Given the description of an element on the screen output the (x, y) to click on. 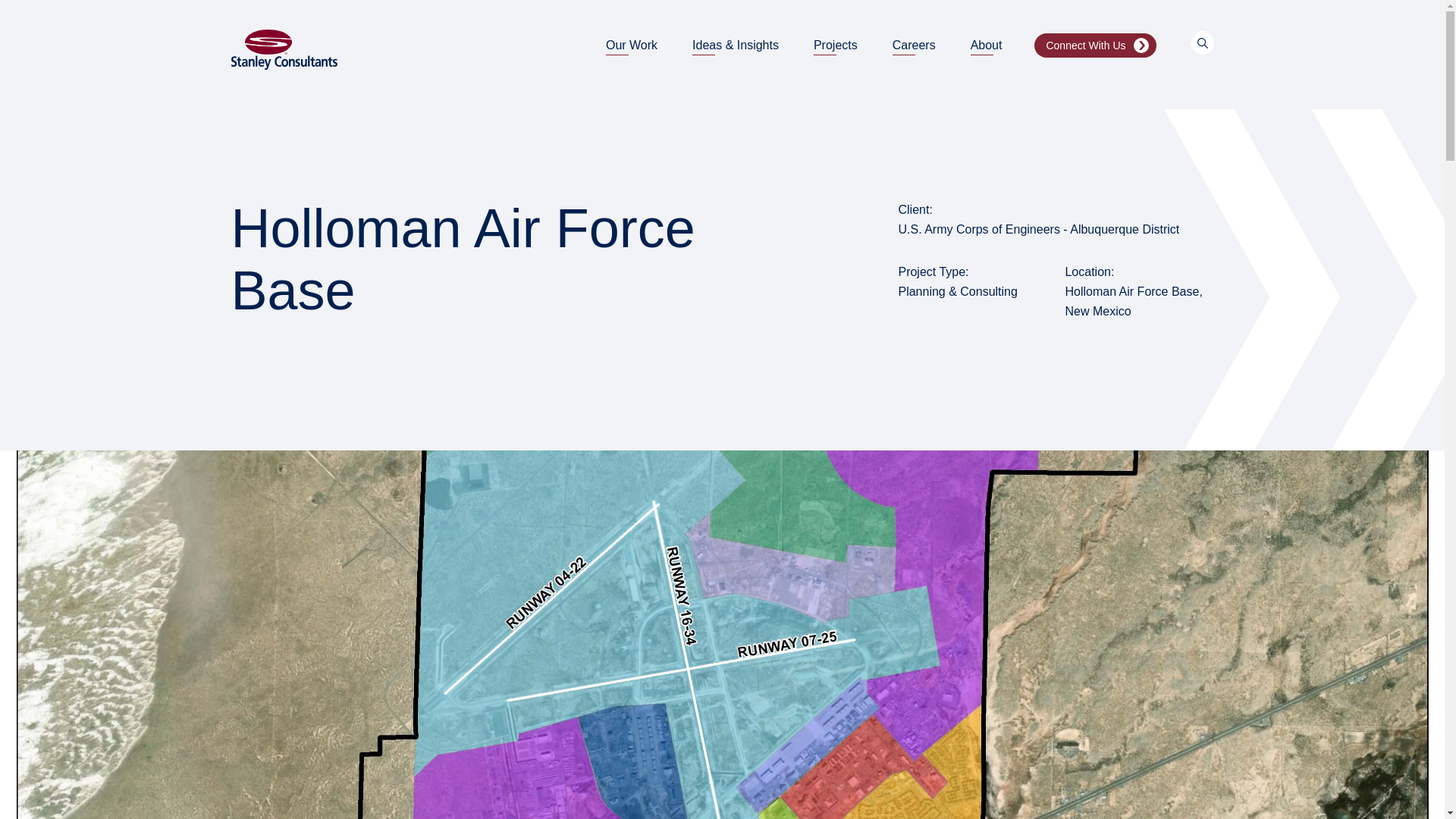
Projects (835, 45)
About (987, 45)
Careers (914, 45)
Our Work (631, 45)
